Given the description of an element on the screen output the (x, y) to click on. 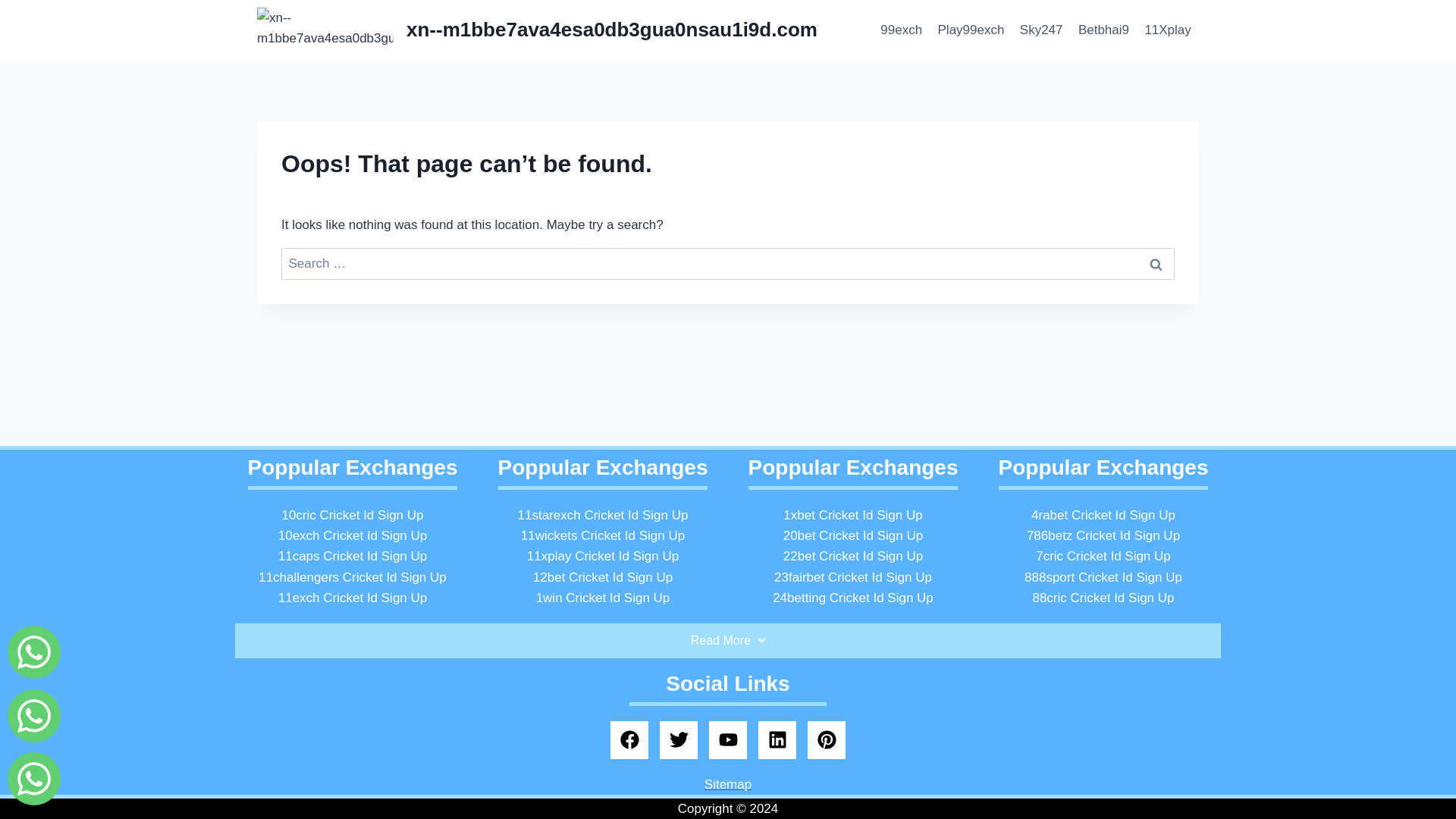
Sky247 (1040, 30)
Search (1155, 264)
1win Cricket Id Sign Up (602, 597)
11xplay Cricket Id Sign Up (602, 555)
Play99exch (970, 30)
11wickets Cricket Id Sign Up (602, 535)
99exch (901, 30)
888sport Cricket Id Sign Up (1103, 577)
10exch Cricket Id Sign Up (353, 535)
xn--m1bbe7ava4esa0db3gua0nsau1i9d.com (536, 30)
24betting Cricket Id Sign Up (853, 597)
23fairbet Cricket Id Sign Up (852, 577)
11starexch Cricket Id Sign Up (603, 514)
11Xplay (1167, 30)
Betbhai9 (1103, 30)
